Given the description of an element on the screen output the (x, y) to click on. 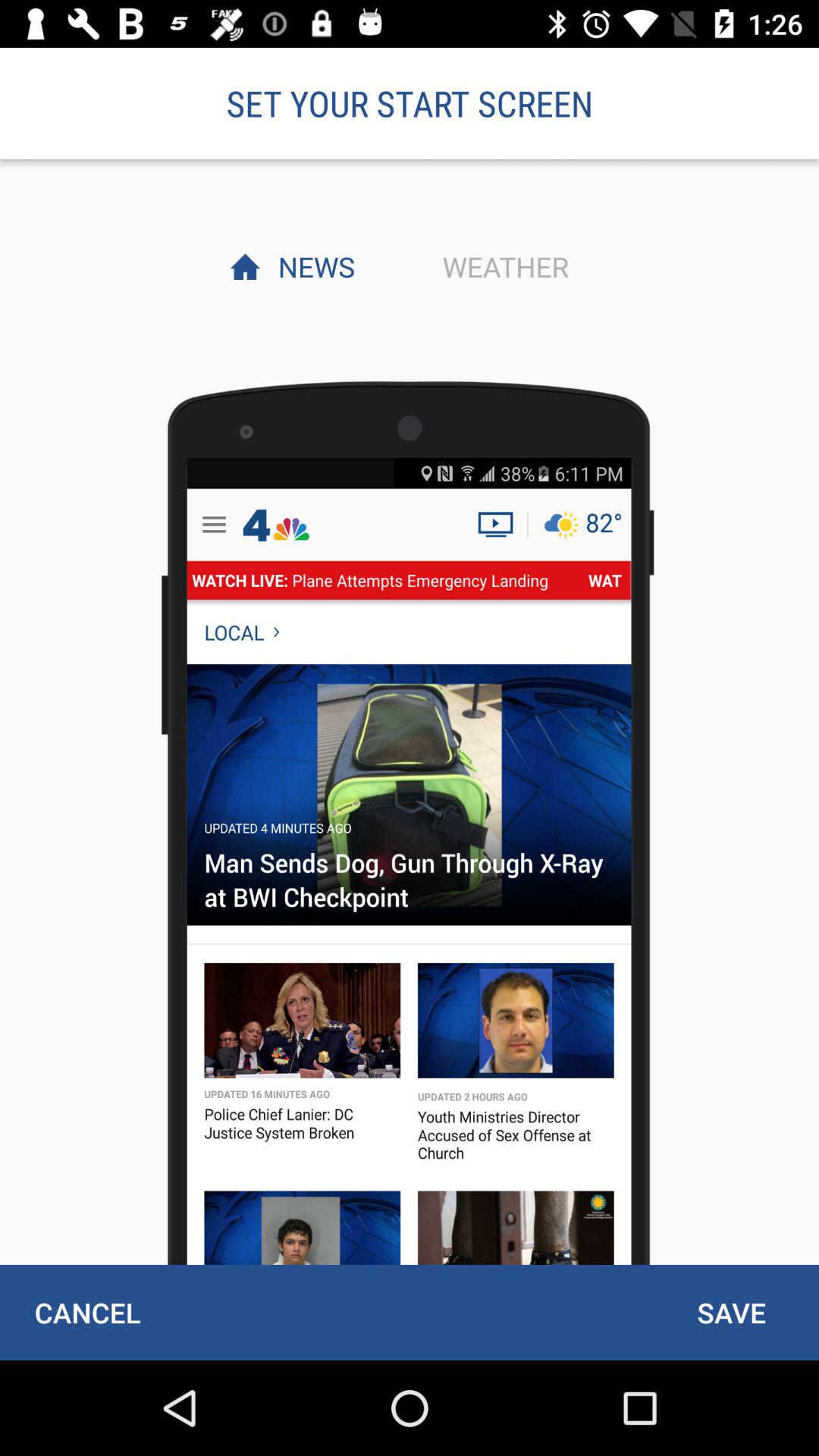
press the save (731, 1312)
